Given the description of an element on the screen output the (x, y) to click on. 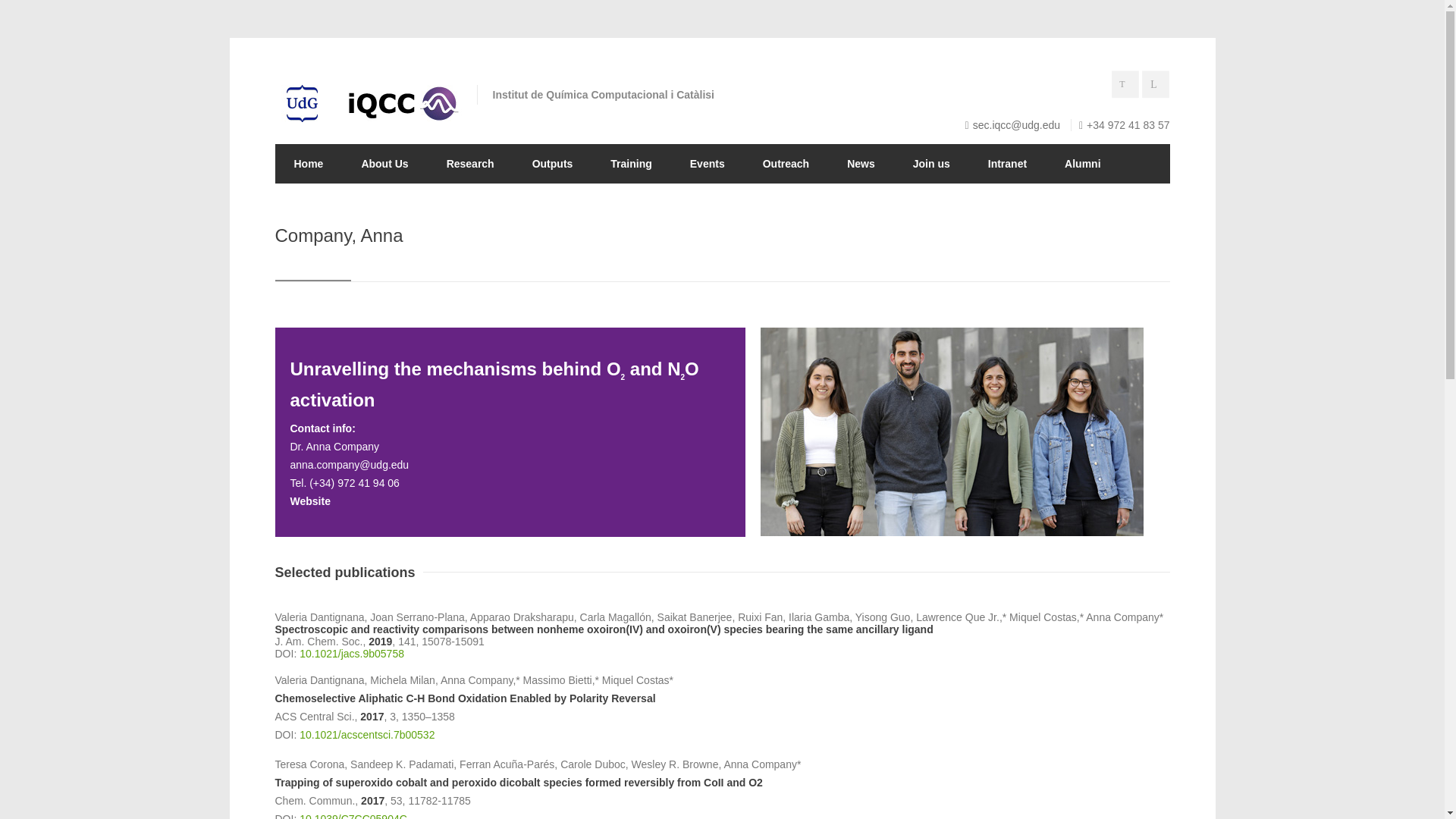
Home (308, 163)
Events (707, 163)
Outputs (552, 163)
About Us (384, 163)
Outreach (786, 163)
LinkedIN (1157, 86)
Training (630, 163)
Twitter (1127, 86)
Research (470, 163)
